Given the description of an element on the screen output the (x, y) to click on. 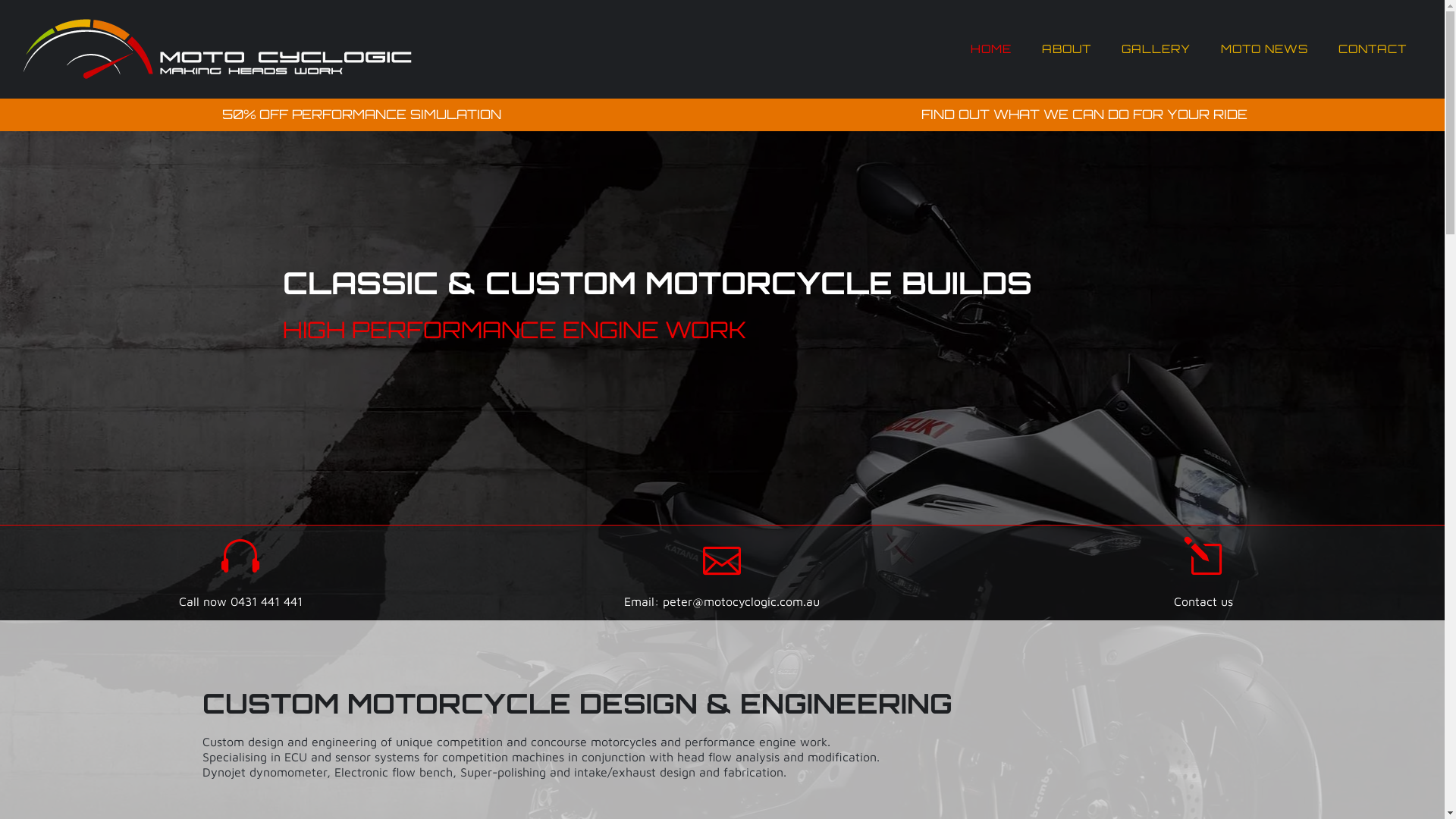
CONTACT Element type: text (1372, 48)
ABOUT Element type: text (1066, 48)
HOME Element type: text (990, 48)
MOTO NEWS Element type: text (1264, 48)
GALLERY Element type: text (1155, 48)
